Given the description of an element on the screen output the (x, y) to click on. 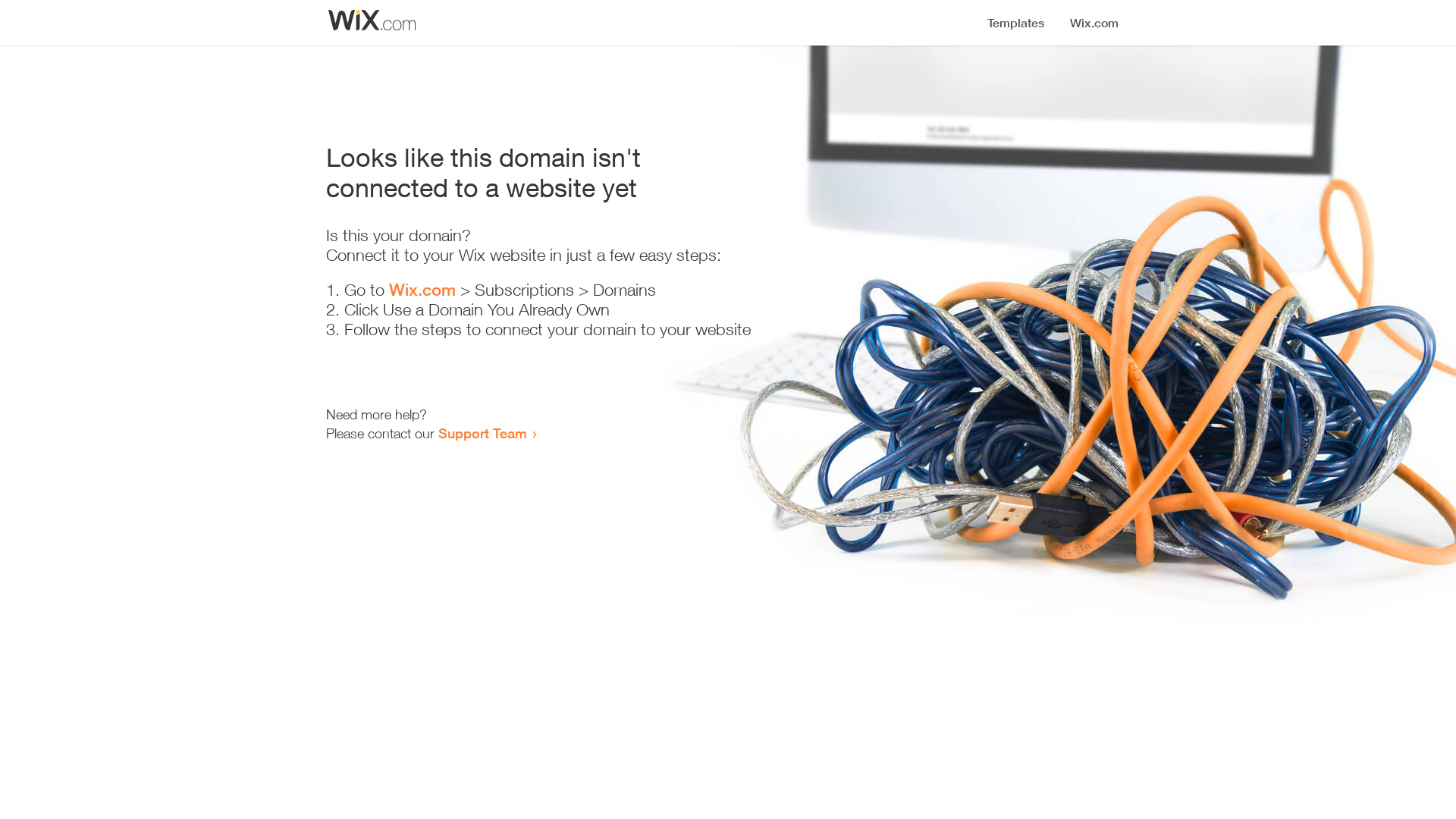
Support Team Element type: text (482, 432)
Wix.com Element type: text (422, 289)
